Given the description of an element on the screen output the (x, y) to click on. 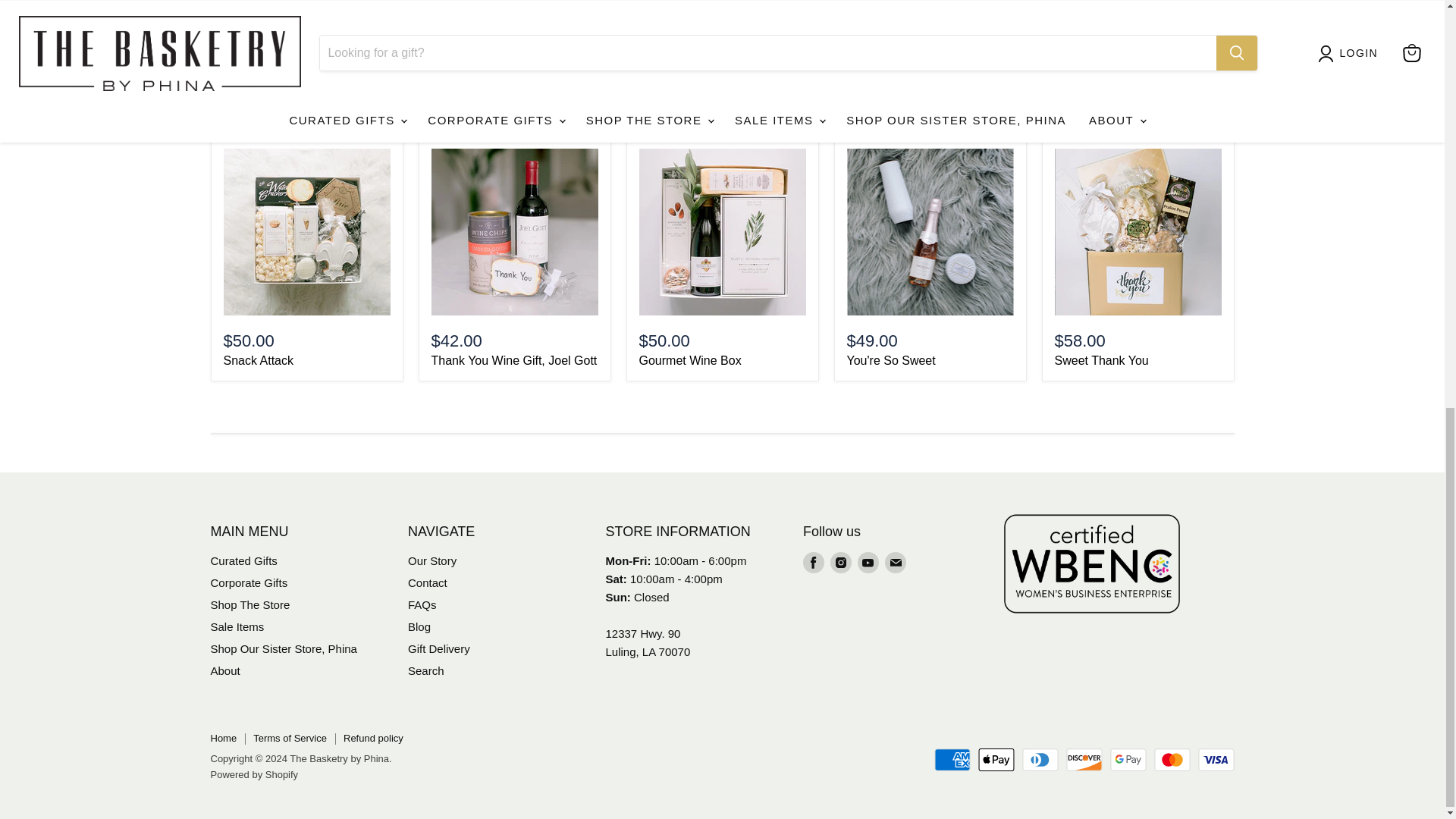
Instagram (840, 562)
Facebook (813, 562)
Email (895, 562)
Youtube (868, 562)
